Given the description of an element on the screen output the (x, y) to click on. 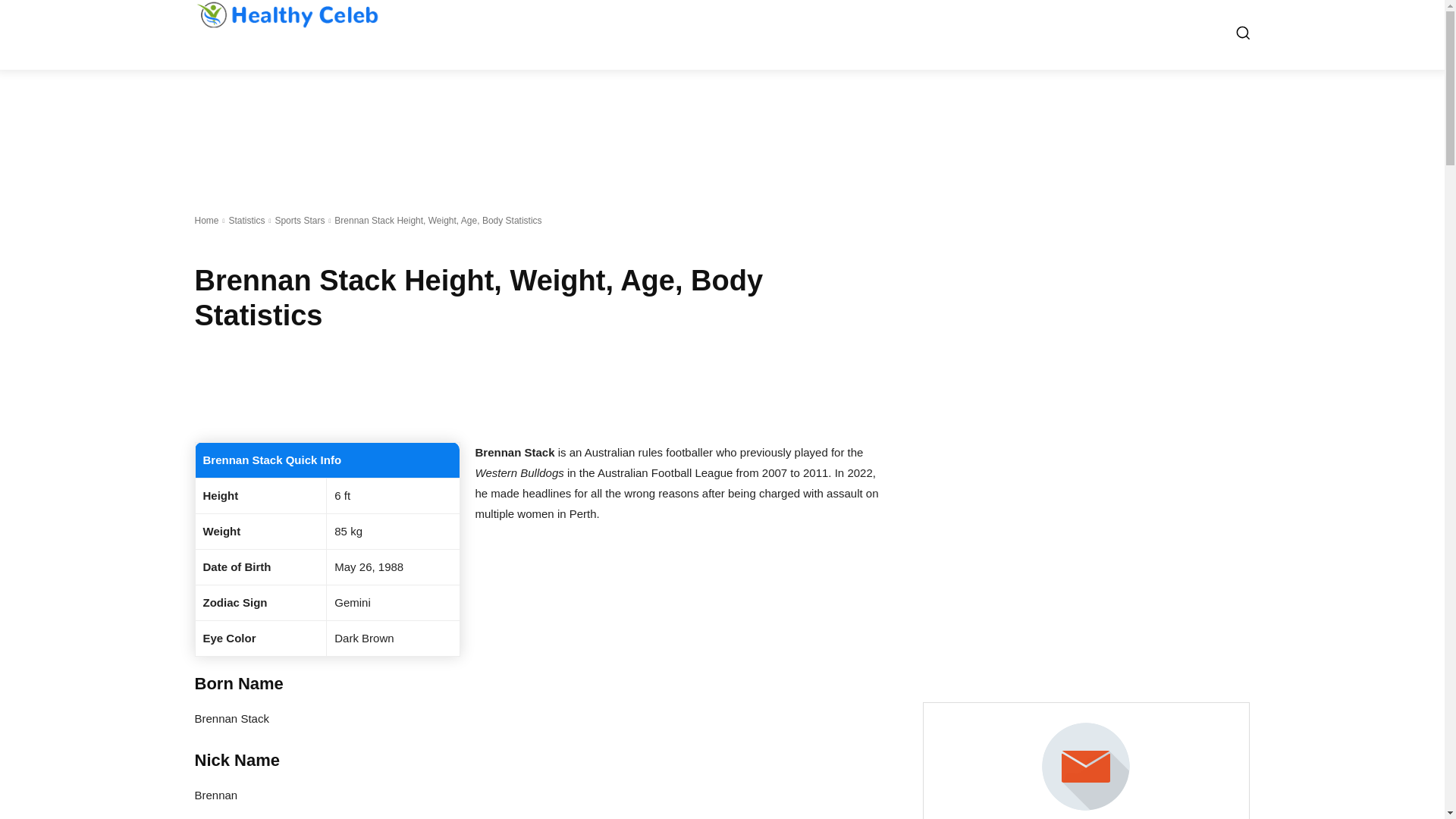
View all posts in Statistics (246, 220)
Healthy Celeb (285, 14)
View all posts in Sports Stars (299, 220)
